Given the description of an element on the screen output the (x, y) to click on. 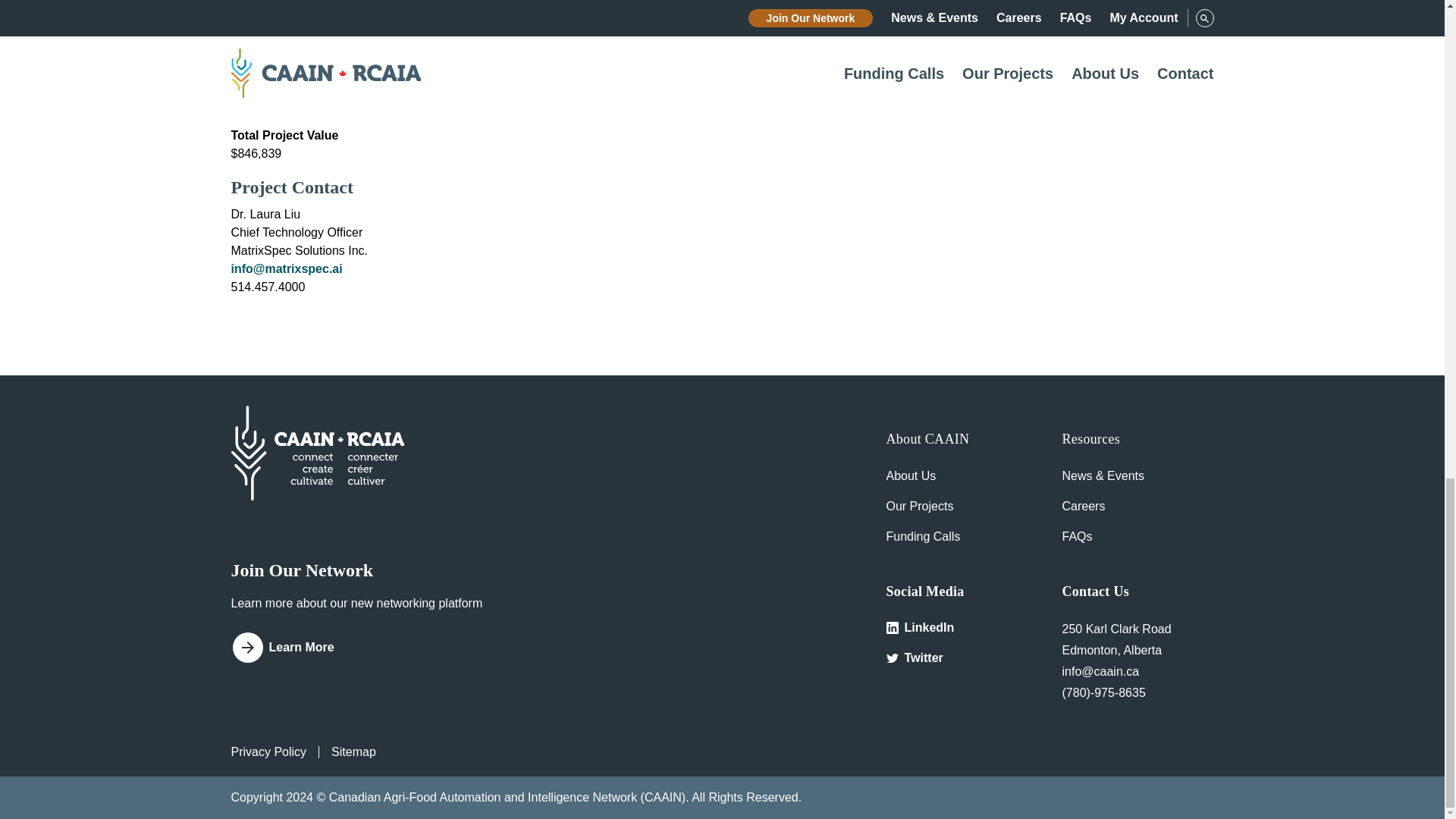
About Us (910, 475)
FAQs (1076, 535)
Careers (1083, 505)
Twitter (960, 658)
Learn More (288, 647)
Funding Calls (922, 535)
LinkedIn (960, 628)
Sitemap (353, 751)
Privacy Policy (267, 751)
Our Projects (919, 505)
